Given the description of an element on the screen output the (x, y) to click on. 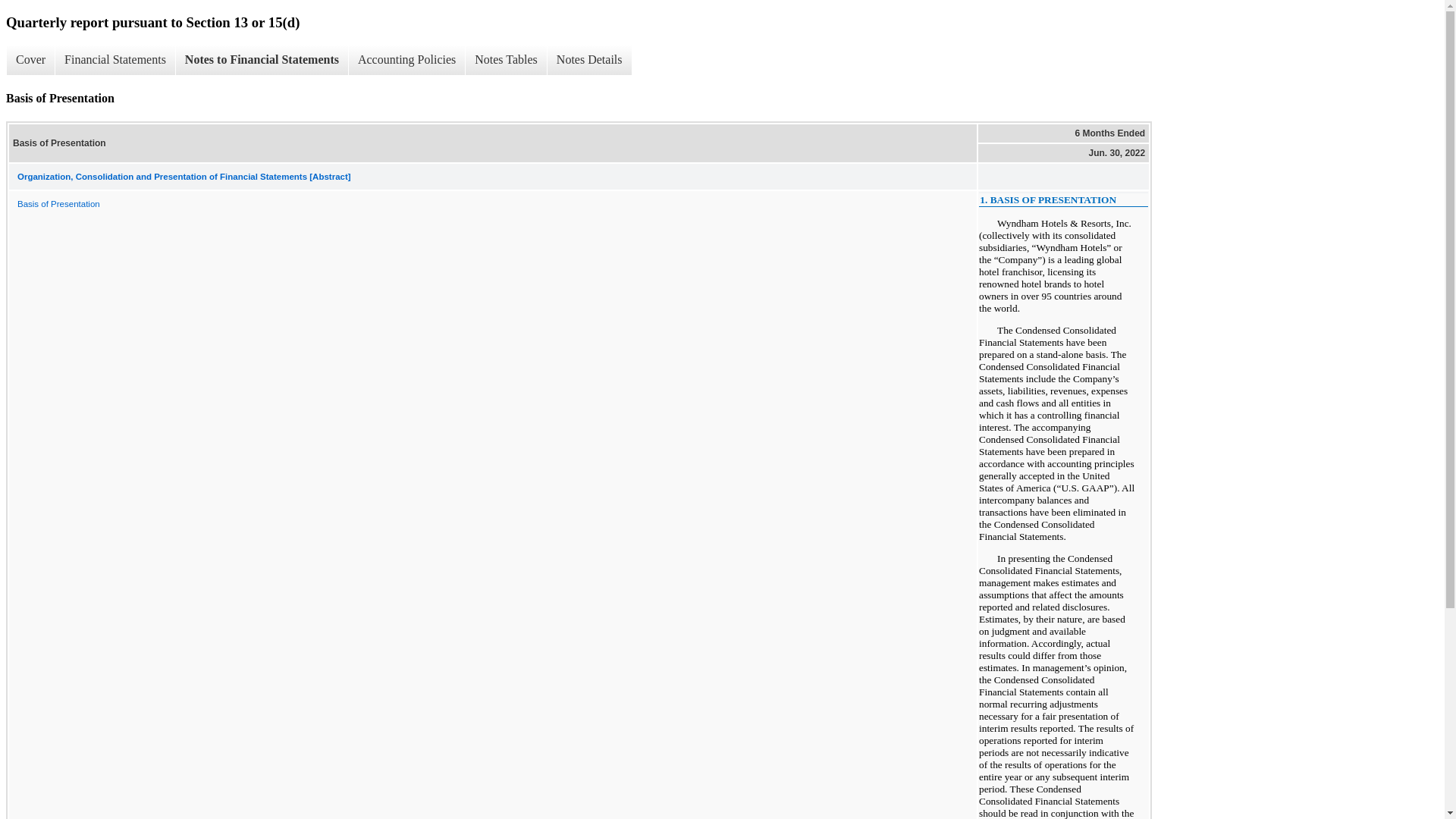
Notes Tables (505, 60)
Financial Statements (114, 60)
Accounting Policies (405, 60)
Cover (30, 60)
Notes to Financial Statements (260, 60)
Notes Details (589, 60)
